Given the description of an element on the screen output the (x, y) to click on. 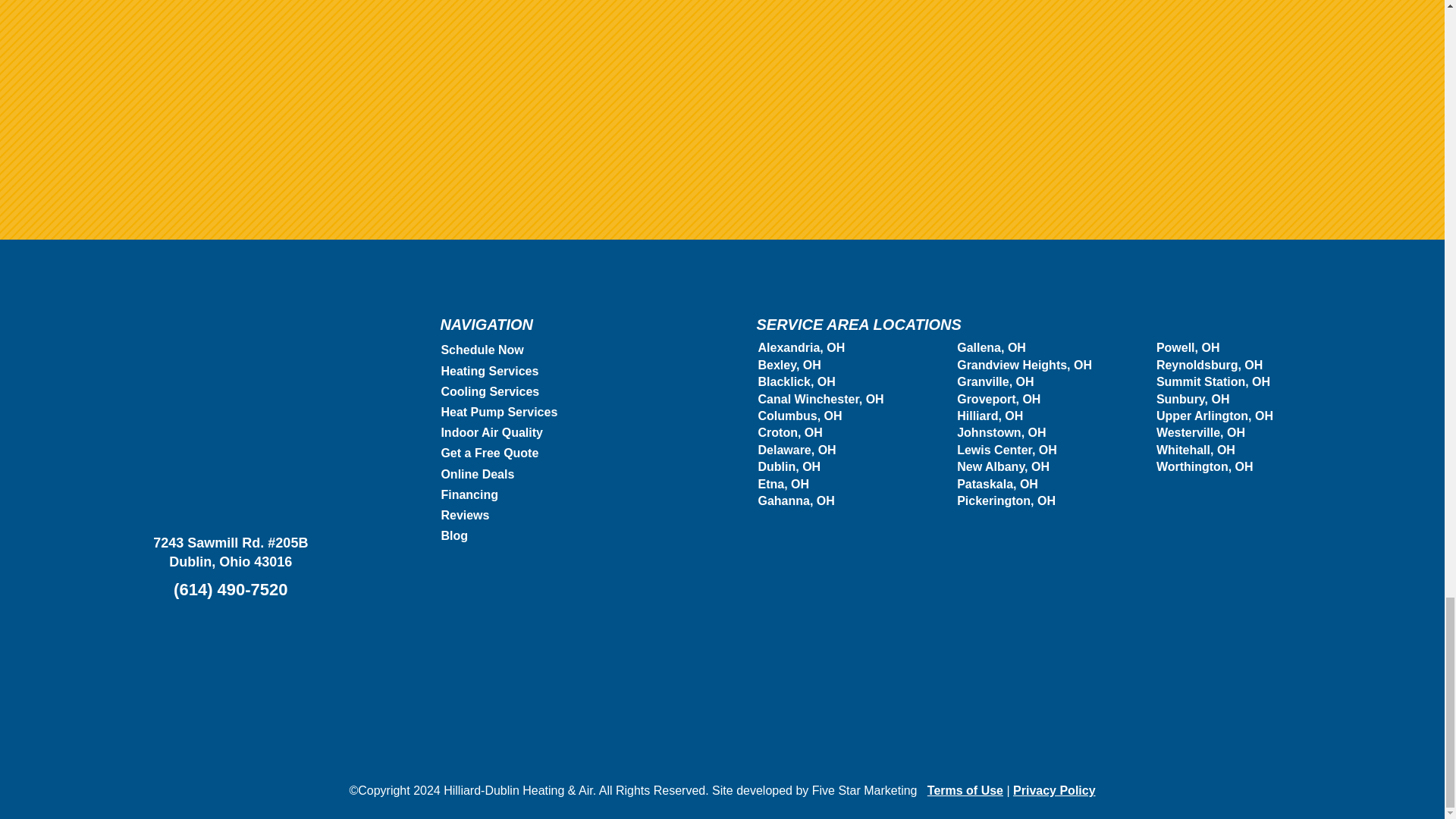
Heating Services (489, 370)
Get a Free Quote (489, 452)
Heat Pump Services (499, 411)
Cooling Services (489, 391)
Schedule Now (481, 349)
Indoor Air Quality (492, 431)
